Given the description of an element on the screen output the (x, y) to click on. 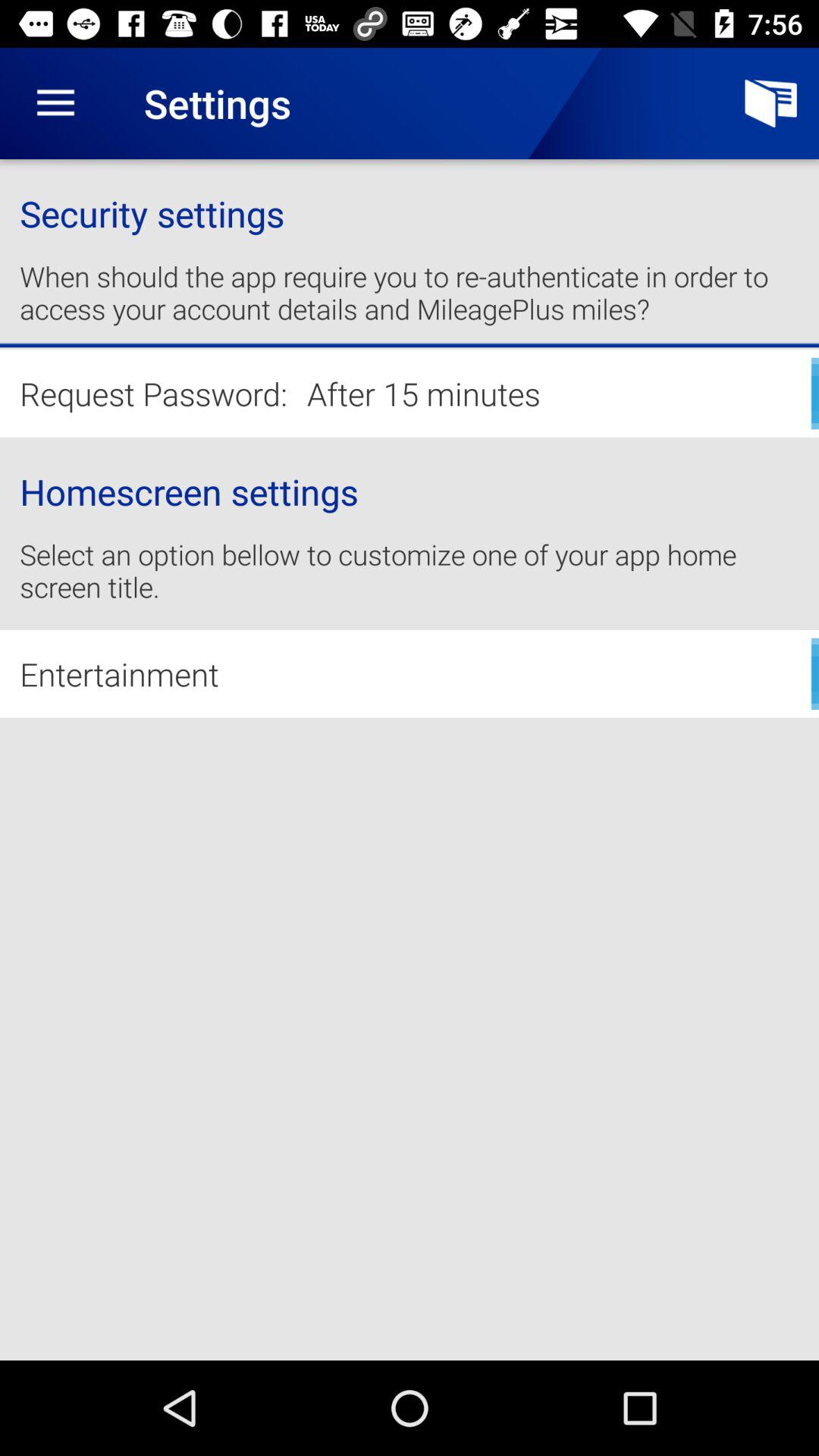
turn off the icon to the right of the settings item (771, 103)
